Given the description of an element on the screen output the (x, y) to click on. 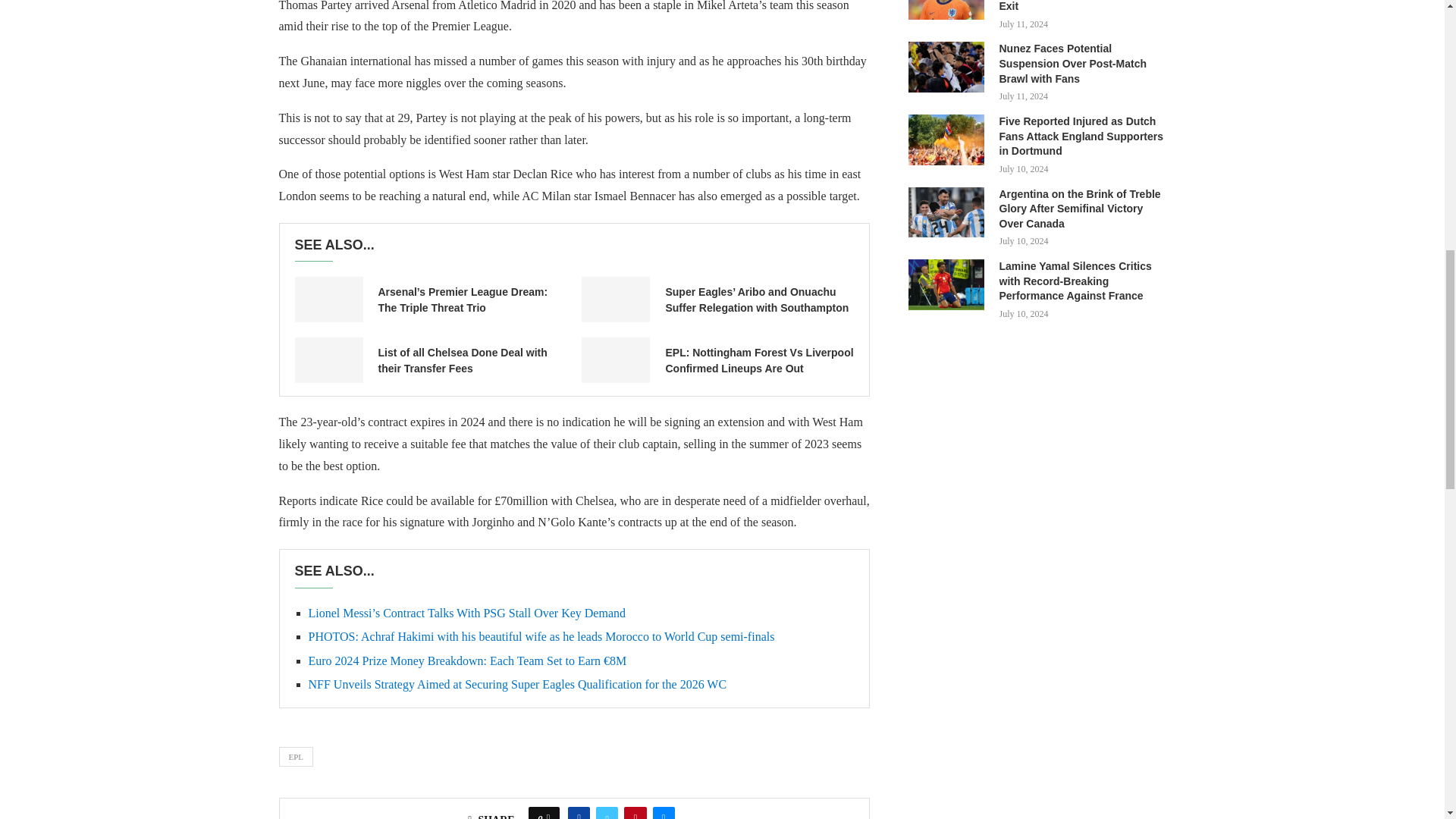
List of all Chelsea Done Deal with their Transfer Fees (328, 360)
